Given the description of an element on the screen output the (x, y) to click on. 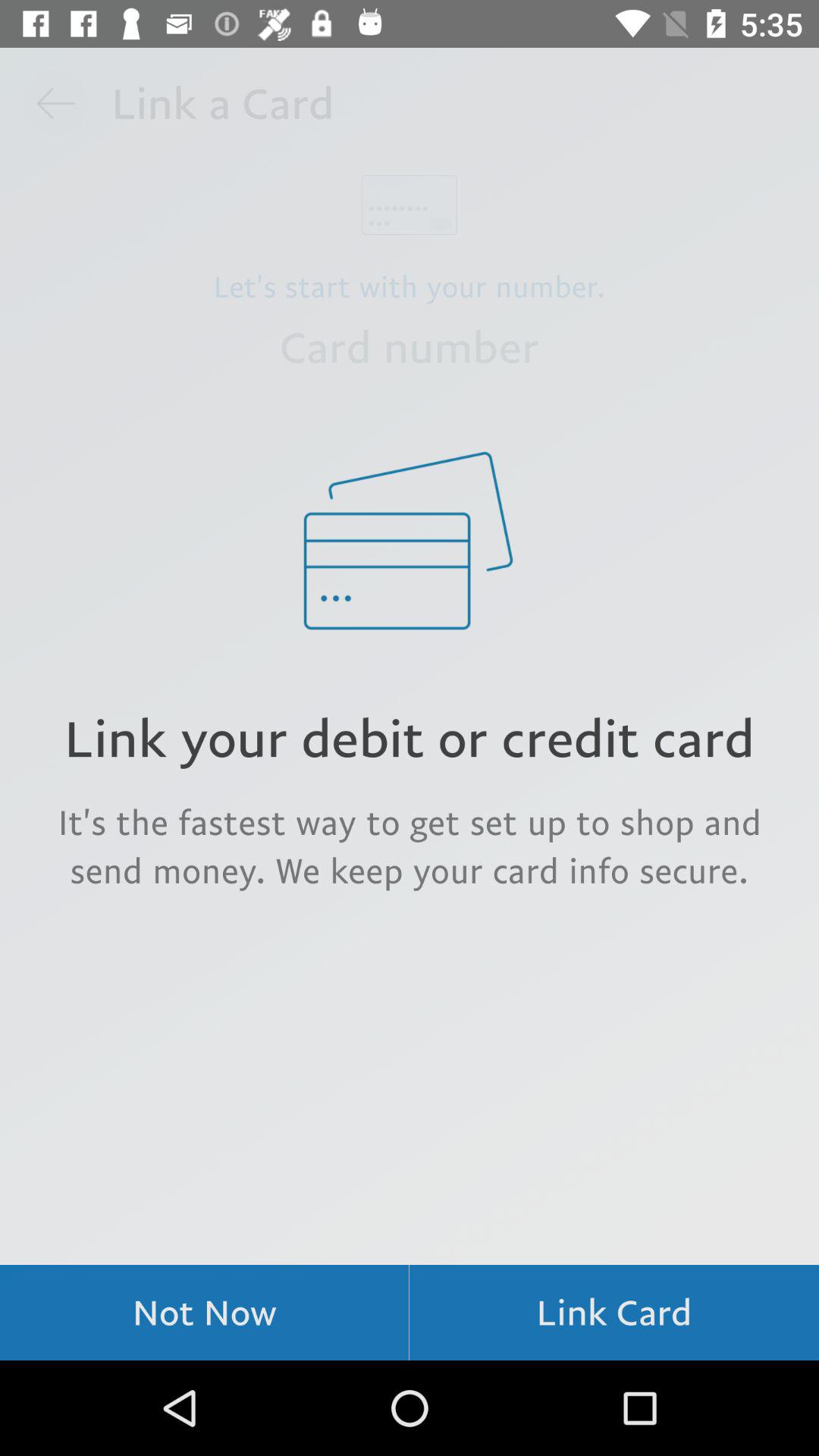
open not now (204, 1312)
